Given the description of an element on the screen output the (x, y) to click on. 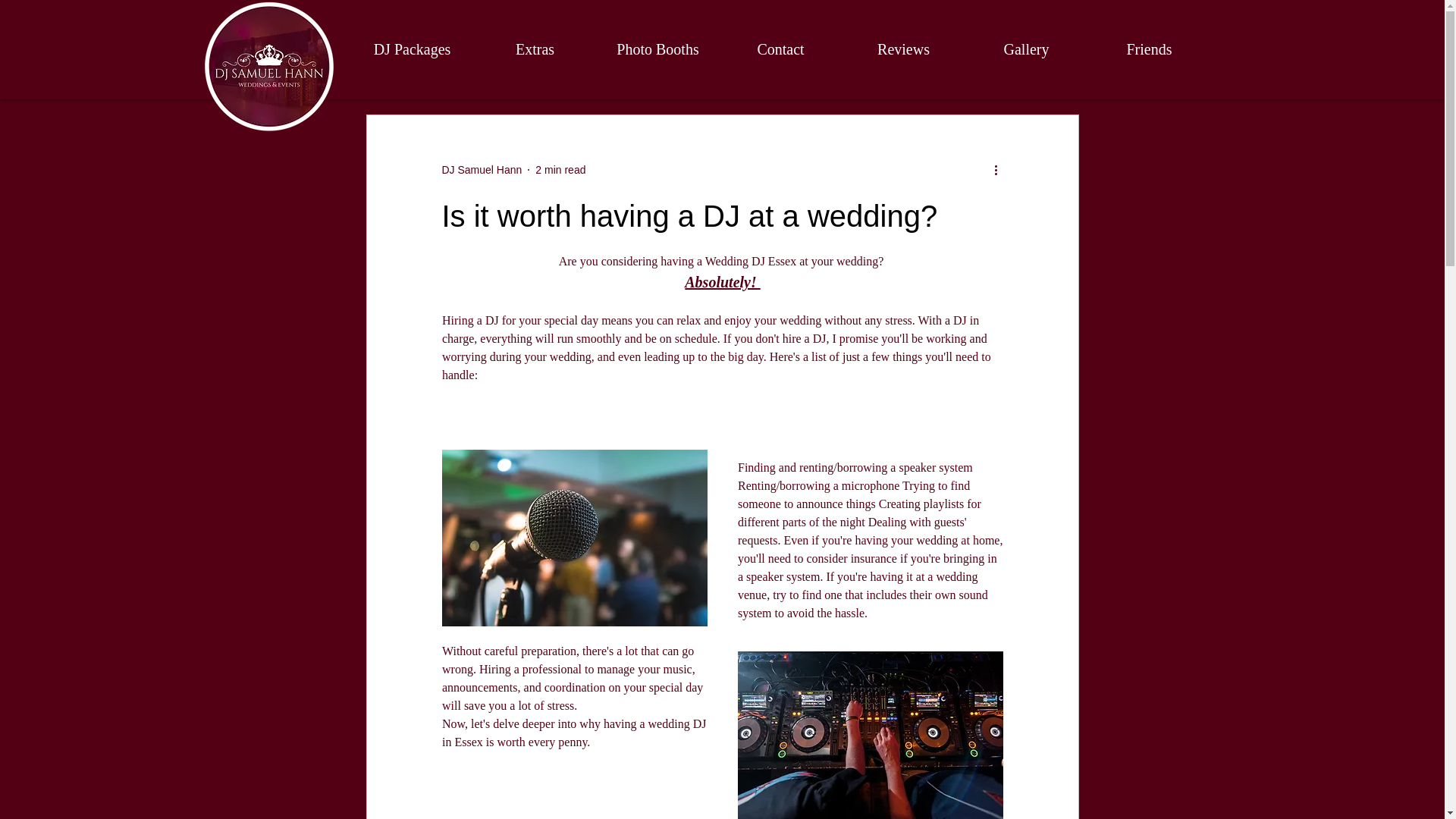
Contact (780, 48)
Reviews (902, 48)
DJ Samuel Hann (481, 170)
DJ Samuel Hann (481, 170)
Gallery (1025, 48)
Friends (1148, 48)
2 min read (560, 169)
